Given the description of an element on the screen output the (x, y) to click on. 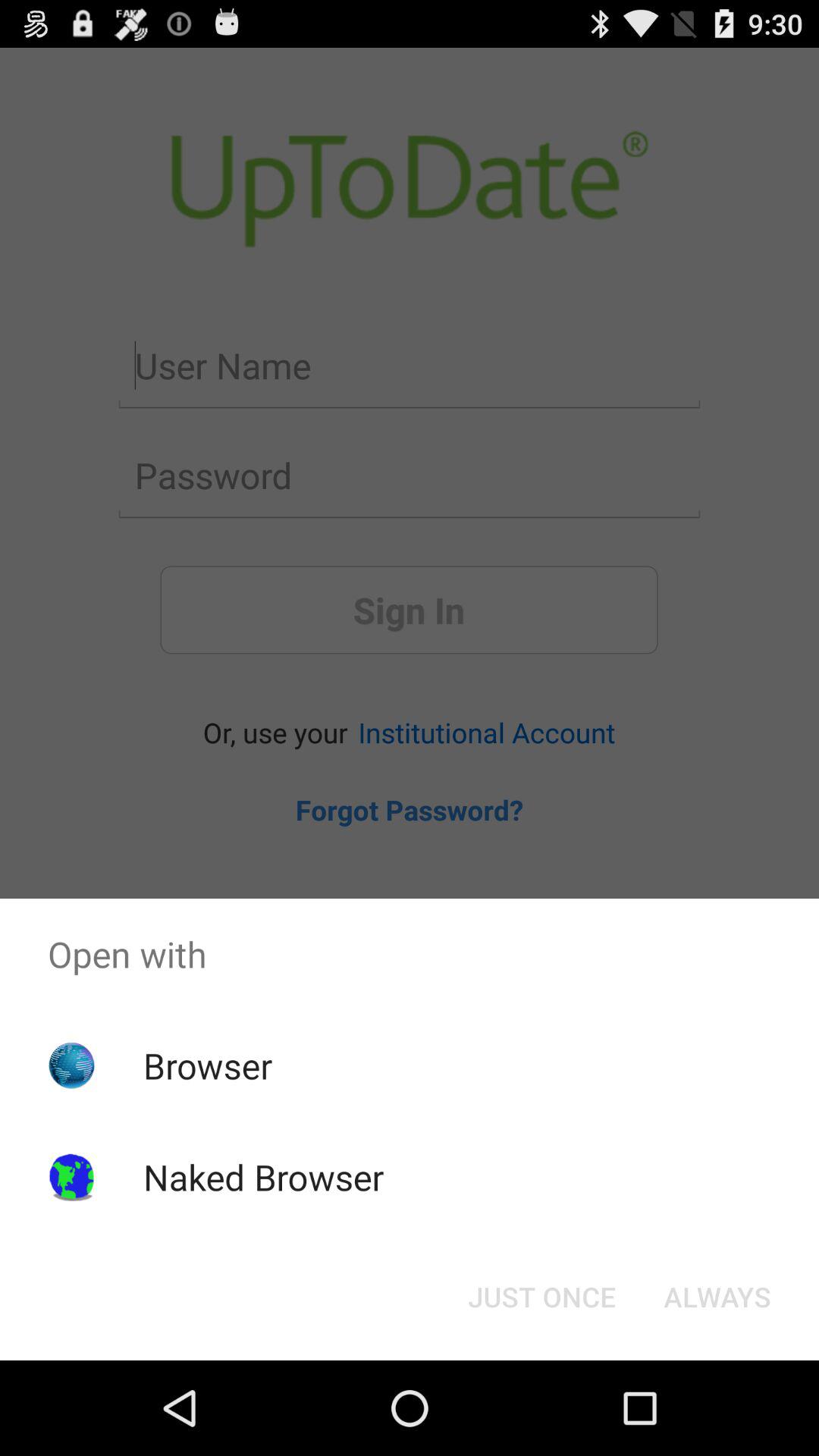
press the button to the left of always item (541, 1296)
